Given the description of an element on the screen output the (x, y) to click on. 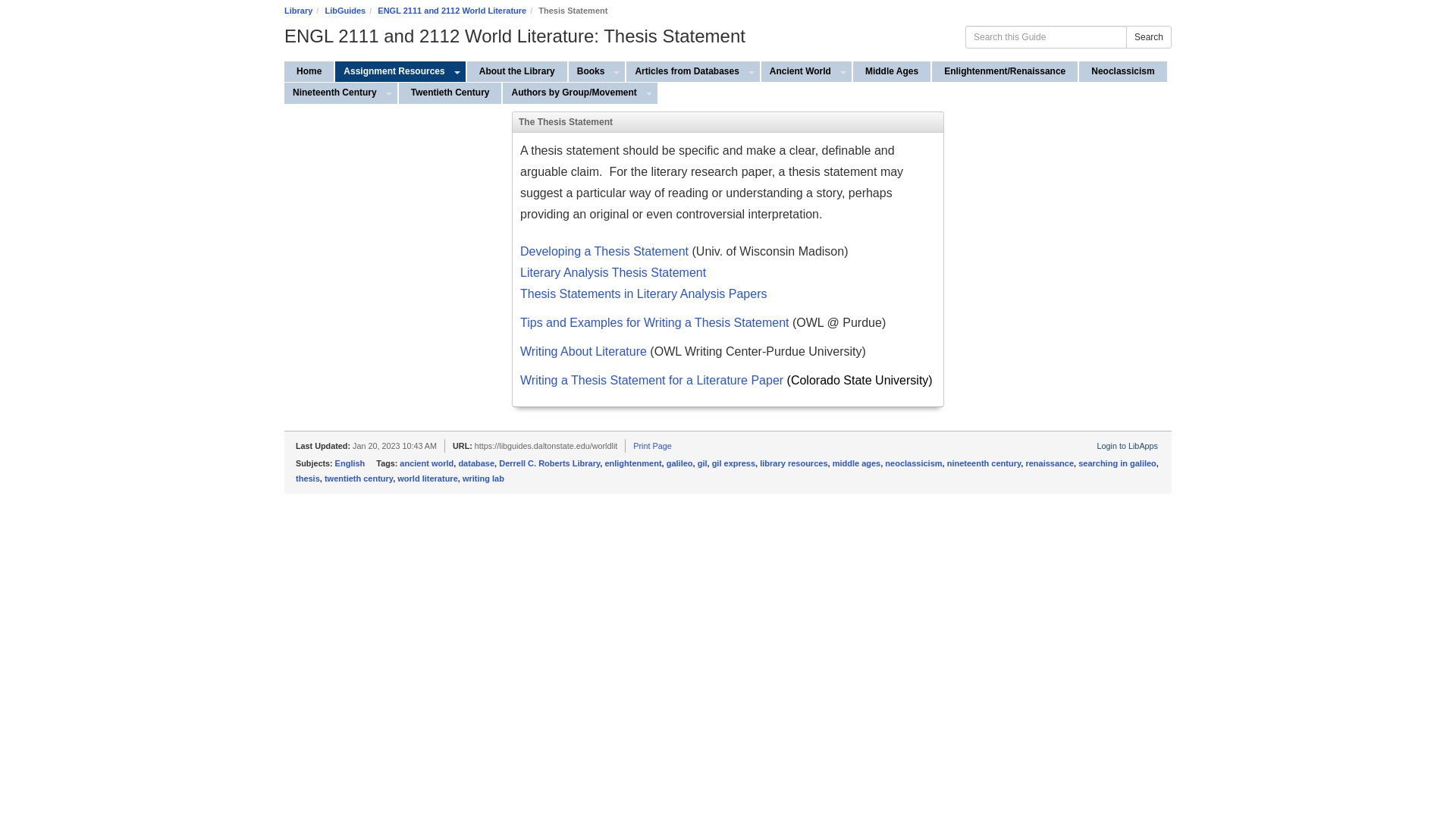
ENGL 2111 and 2112 World Literature (451, 10)
Literary Analysis Thesis Statement  (614, 273)
Thesis Statements in Literary Analysis Papers (643, 293)
Nineteenth Century (332, 92)
Ancient World (798, 71)
Middle Ages (891, 71)
LibGuides (344, 10)
Library (298, 10)
Neoclassicism (1122, 71)
Developing a Thesis Statement (603, 250)
Search (1148, 36)
Twentieth Century (450, 92)
Assignment Resources (391, 71)
About the Library (517, 71)
Articles from Databases (684, 71)
